Given the description of an element on the screen output the (x, y) to click on. 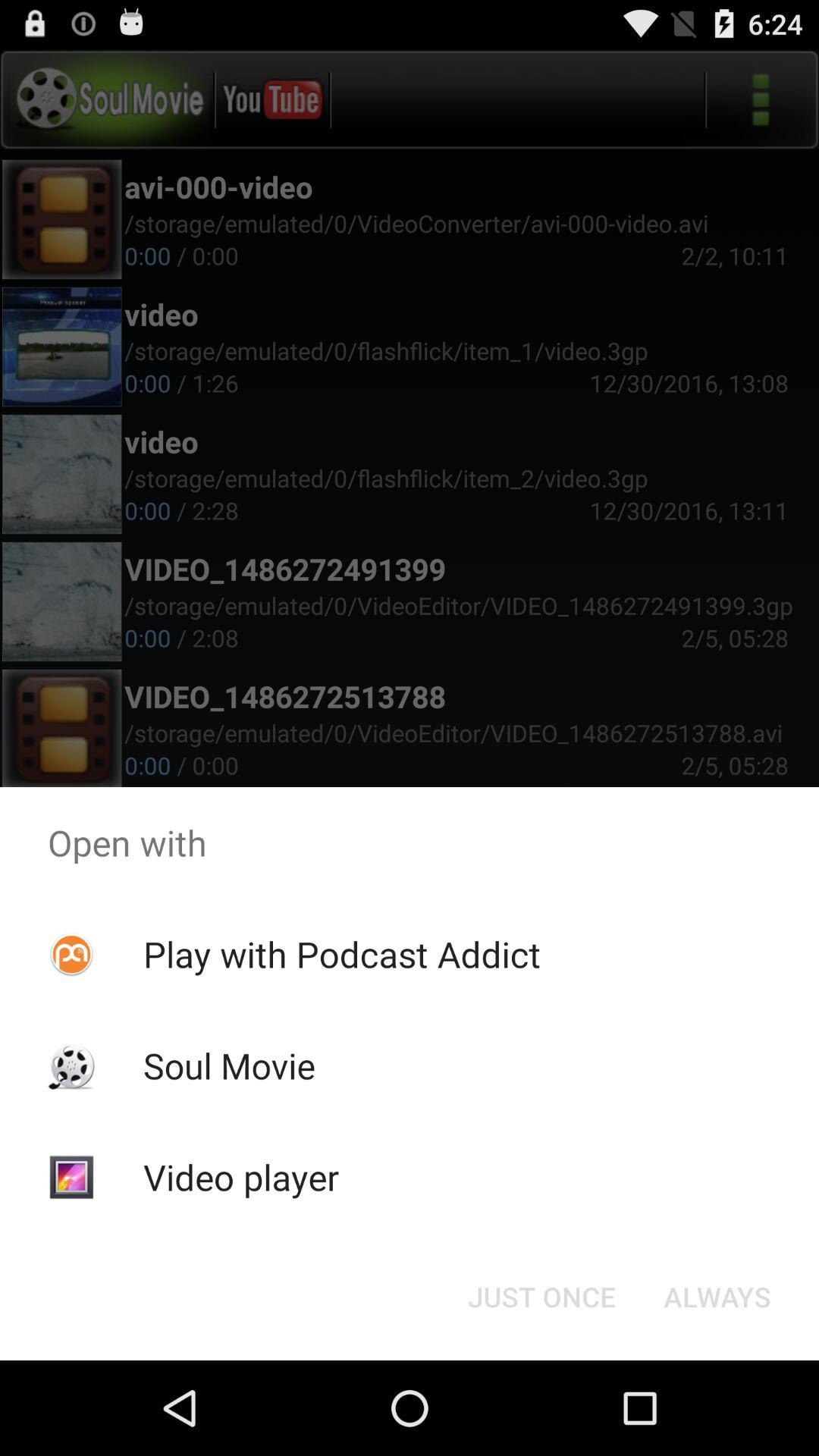
press the item at the bottom right corner (717, 1296)
